Given the description of an element on the screen output the (x, y) to click on. 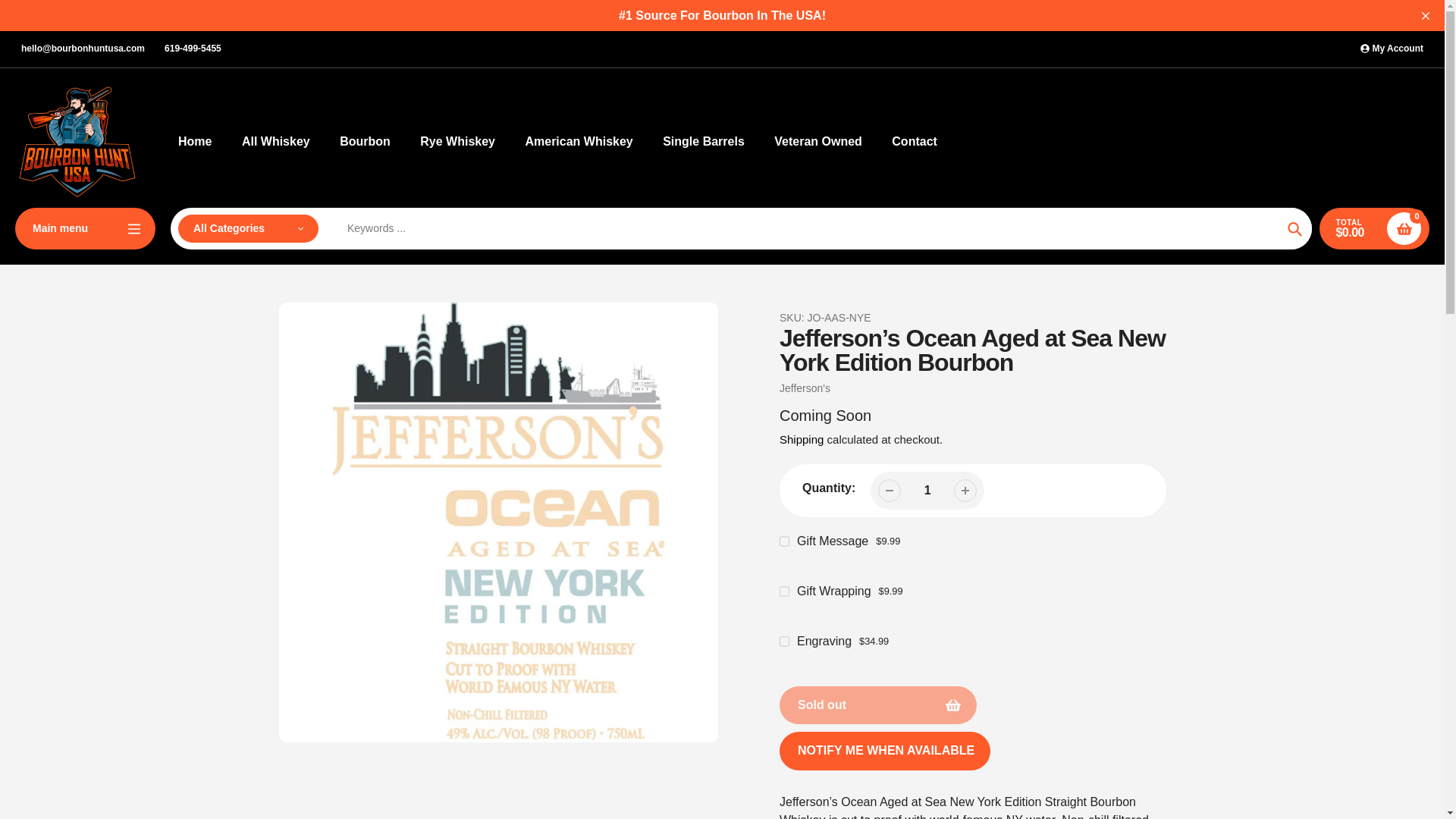
American Whiskey (577, 141)
All Whiskey (275, 141)
Rye Whiskey (457, 141)
1 (927, 490)
Bourbon (364, 141)
619-499-5455 (192, 48)
Main menu (84, 228)
Single Barrels (703, 141)
My Account (1391, 48)
Contact (914, 141)
